Given the description of an element on the screen output the (x, y) to click on. 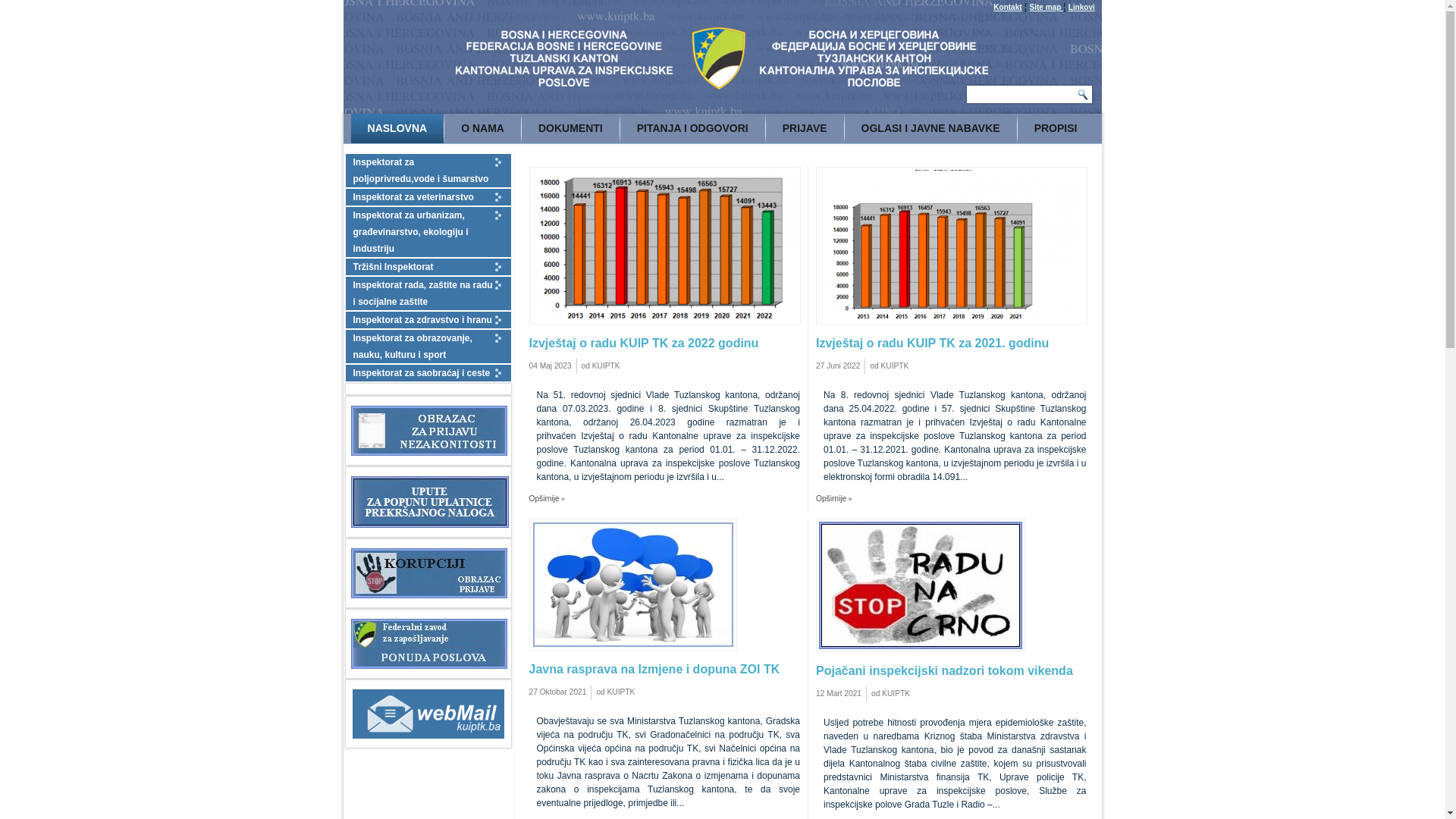
Javna rasprava na Izmjene i dopuna ZOI TK Element type: text (664, 682)
Kontakt Element type: text (1007, 7)
Site map Element type: text (1046, 7)
PROPISI Element type: text (1055, 128)
Inspektorat za obrazovanje, nauku, kulturu i sport Element type: text (428, 346)
Linkovi Element type: text (1081, 7)
PRIJAVE Element type: text (804, 128)
DOKUMENTI Element type: text (570, 128)
PITANJA I ODGOVORI Element type: text (692, 128)
Inspektorat za veterinarstvo Element type: text (428, 196)
O NAMA Element type: text (482, 128)
OGLASI I JAVNE NABAVKE Element type: text (930, 128)
Inspektorat za zdravstvo i hranu Element type: text (428, 319)
NASLOVNA Element type: text (397, 128)
